Given the description of an element on the screen output the (x, y) to click on. 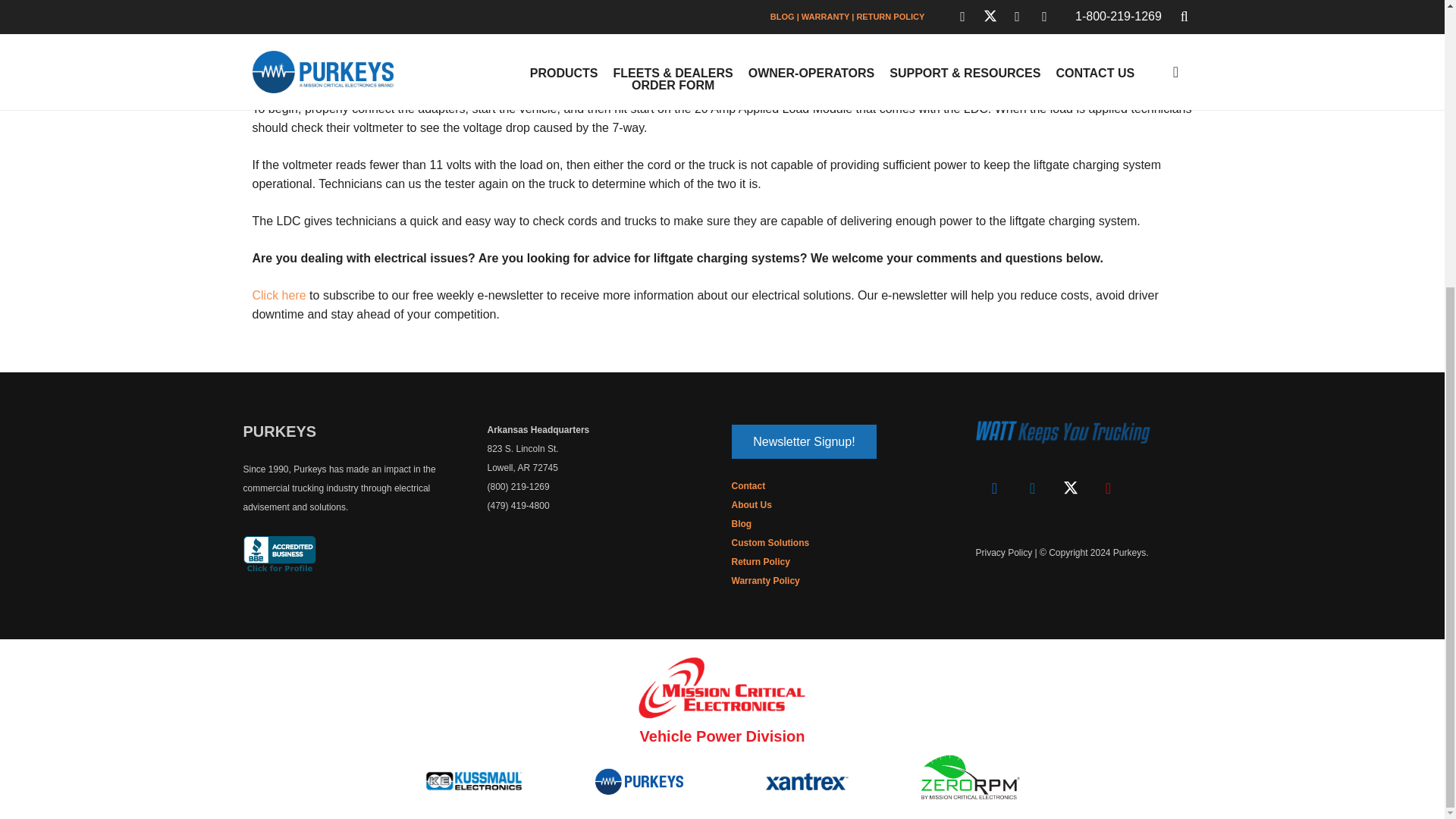
Newsletter Signup! (803, 441)
About Us (750, 504)
Facebook (994, 487)
Blog (740, 523)
LinkedIn (1032, 487)
YouTube (1107, 487)
Twitter (1070, 487)
Warranty Policy (764, 580)
Custom Solutions (769, 542)
Contact (747, 485)
Privacy Policy (1003, 552)
Click here (278, 295)
Return Policy (759, 561)
